Given the description of an element on the screen output the (x, y) to click on. 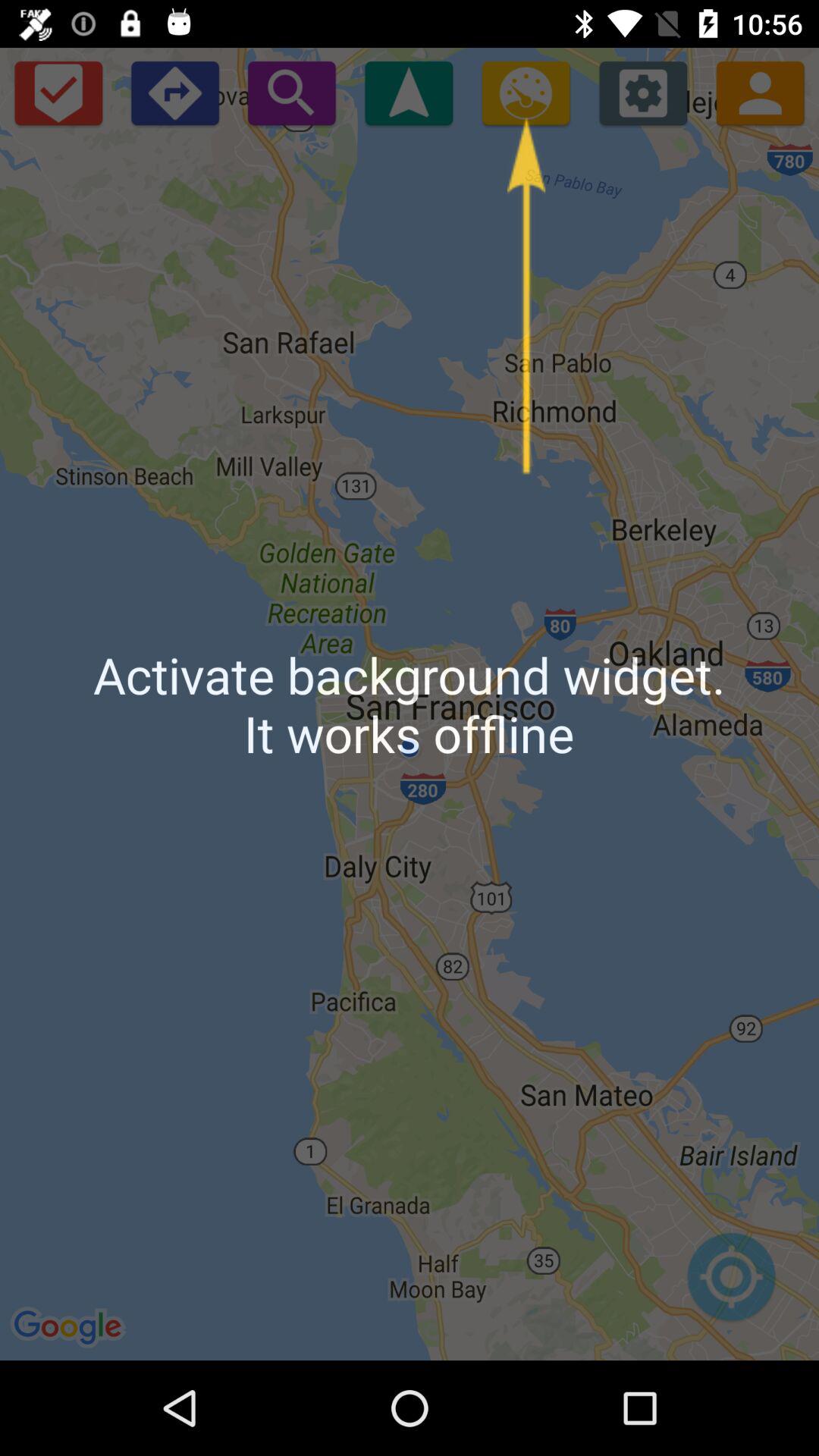
open contacts (760, 92)
